Given the description of an element on the screen output the (x, y) to click on. 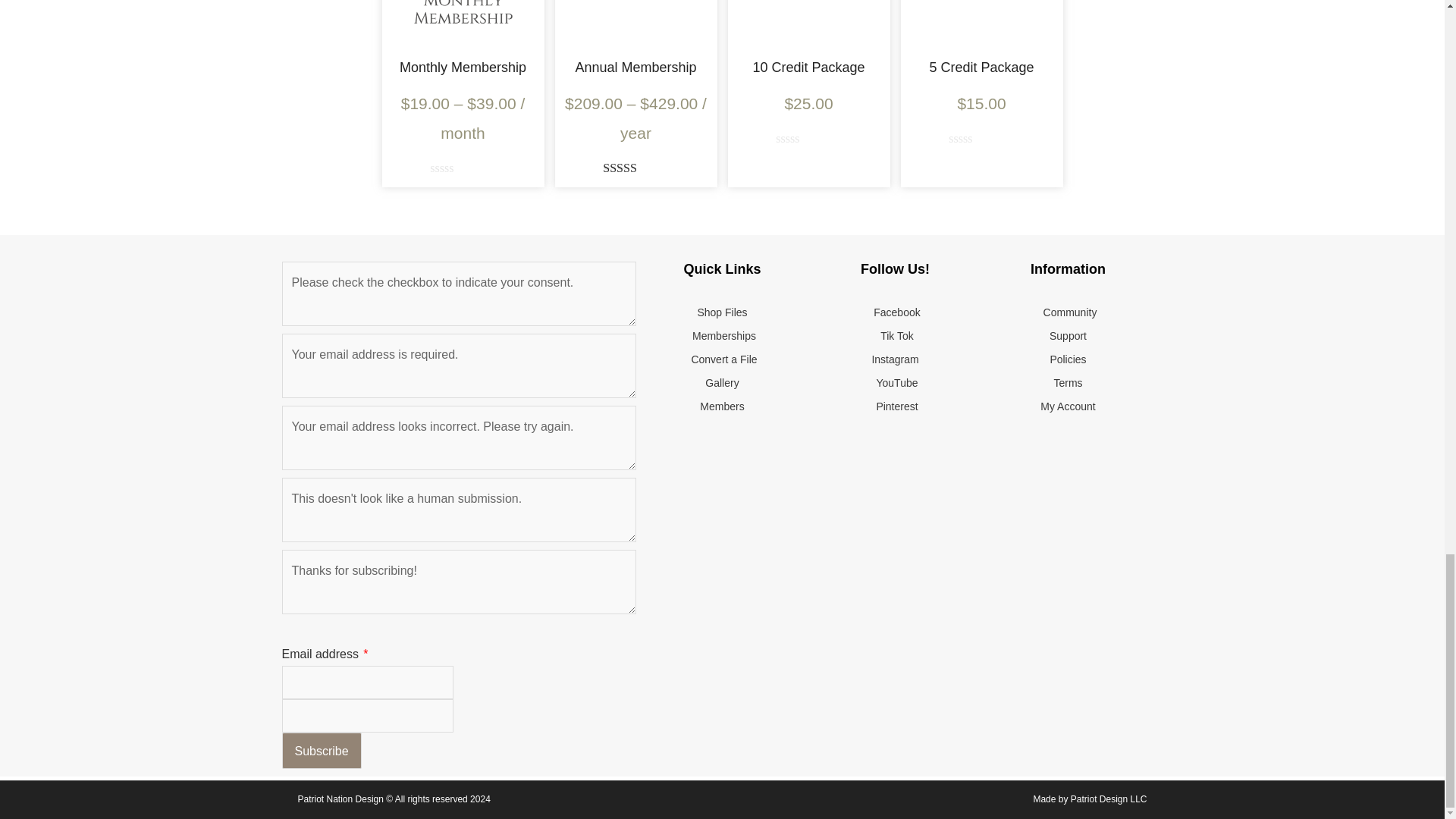
Monthly Membership (461, 67)
Annual Membership (635, 67)
